Given the description of an element on the screen output the (x, y) to click on. 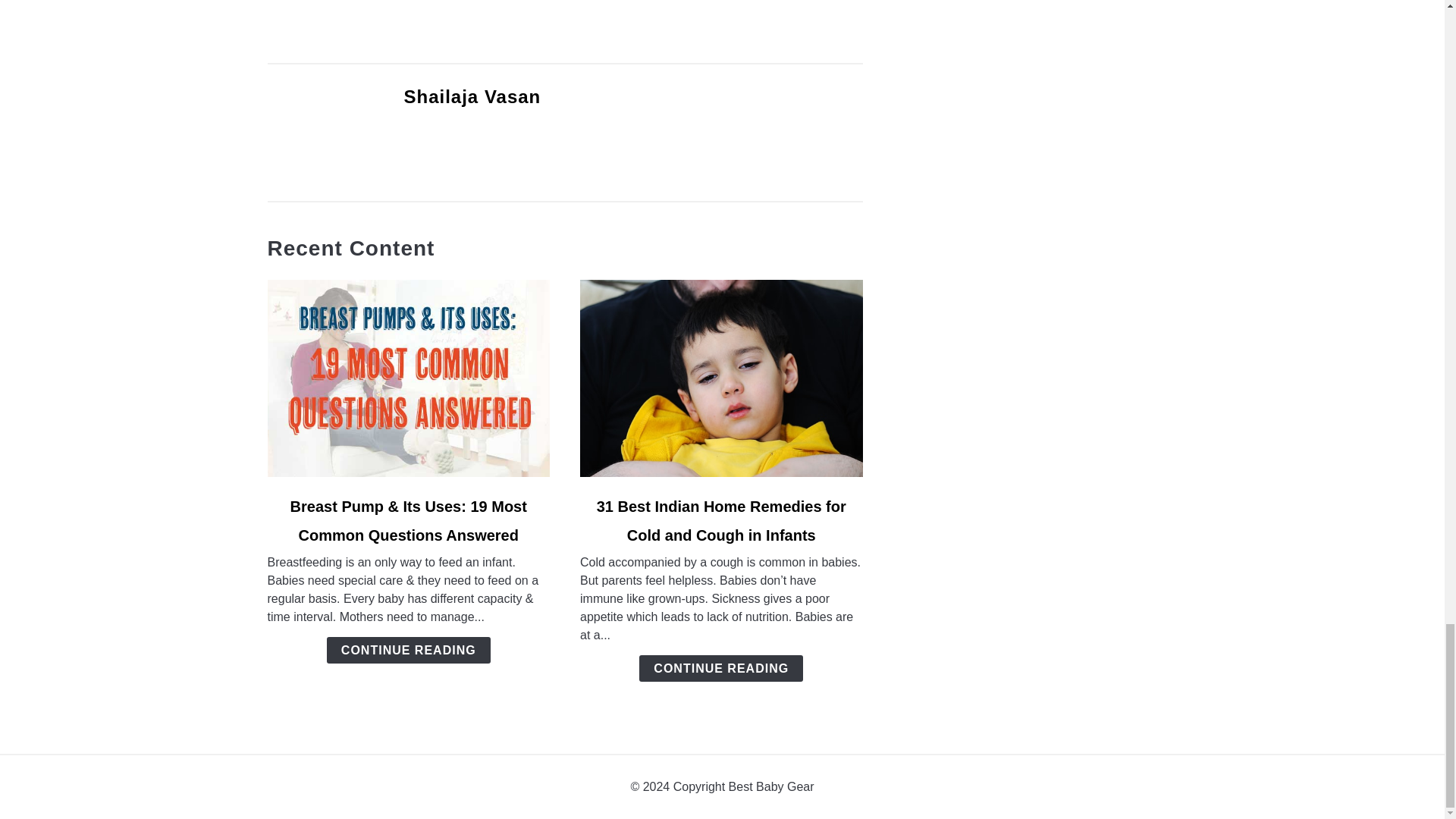
CONTINUE READING (408, 650)
CONTINUE READING (721, 668)
31 Best Indian Home Remedies for Cold and Cough in Infants (720, 520)
Shailaja Vasan (471, 96)
